Given the description of an element on the screen output the (x, y) to click on. 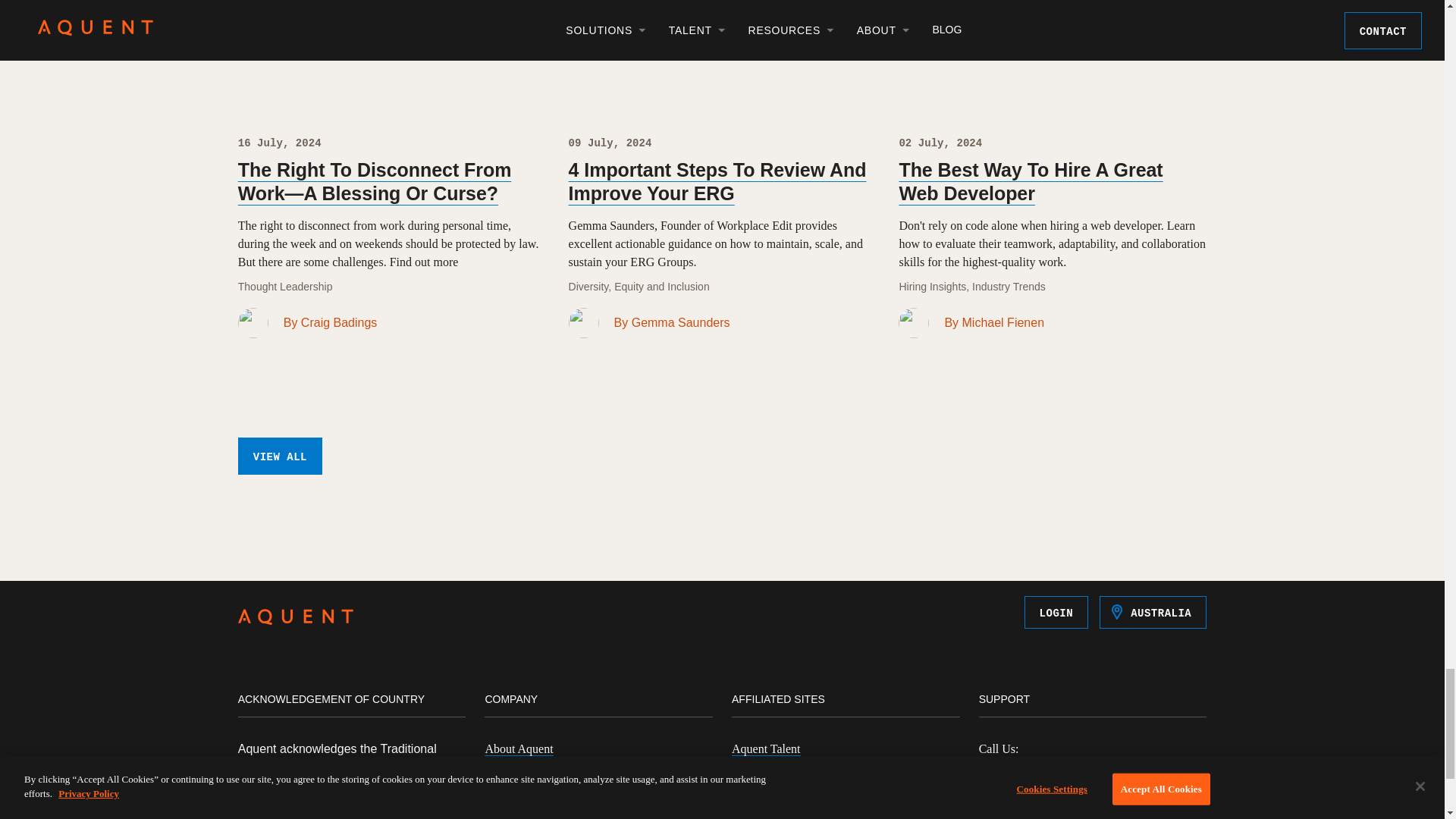
Aquent Homepage (295, 619)
